Given the description of an element on the screen output the (x, y) to click on. 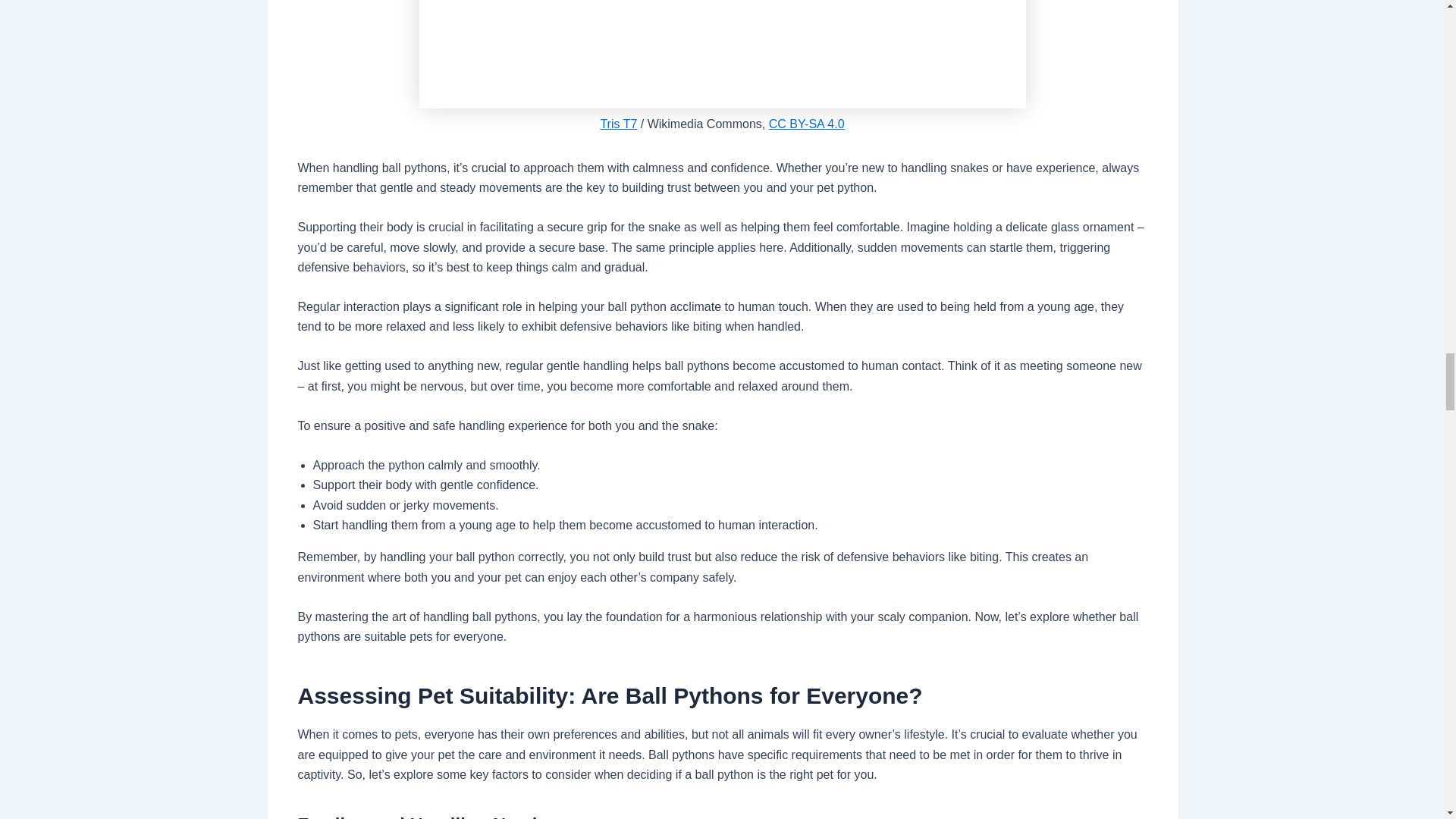
Tris T7 (618, 123)
CC BY-SA 4.0 (806, 123)
